Given the description of an element on the screen output the (x, y) to click on. 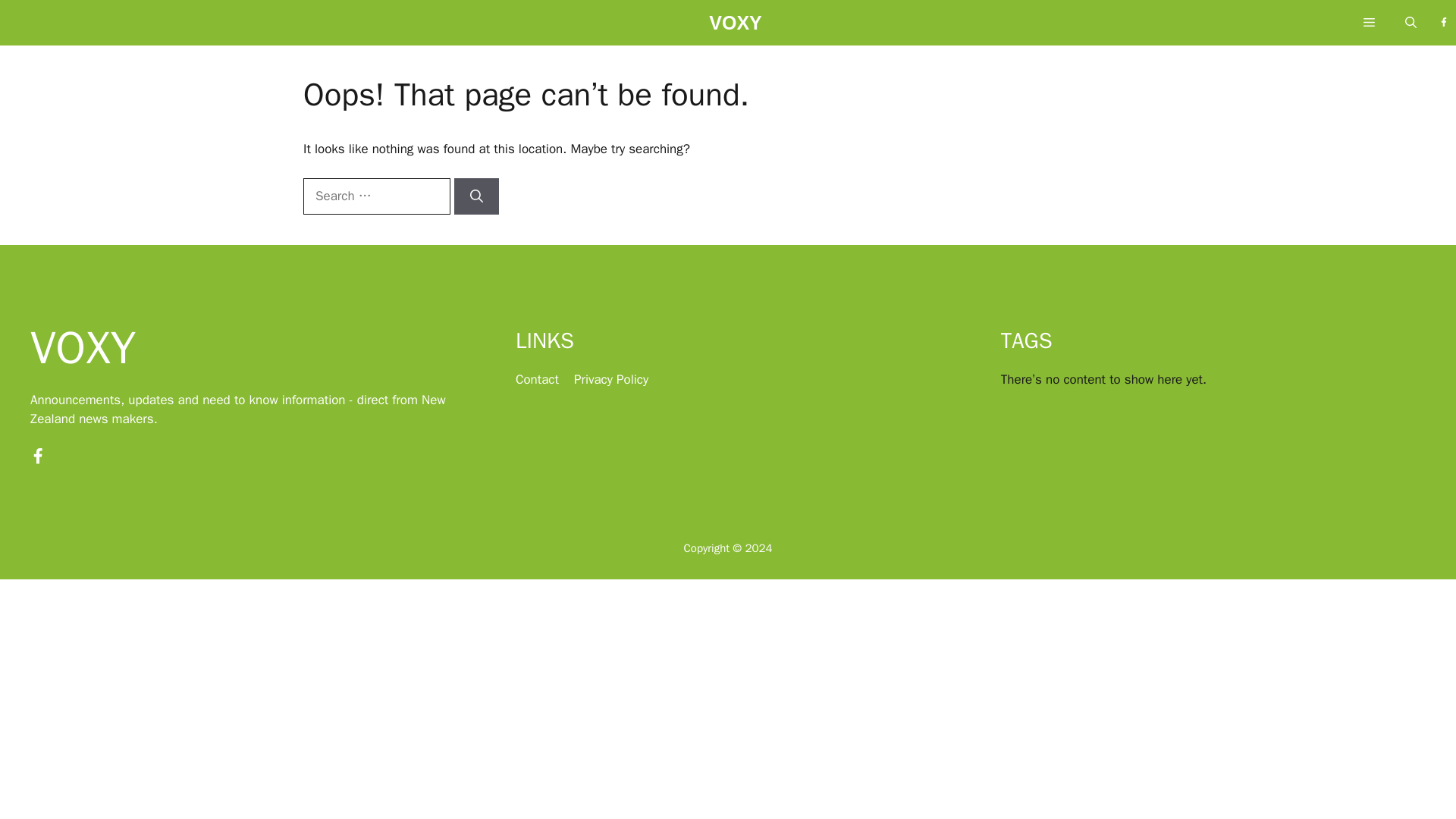
Privacy Policy (610, 379)
Contact (537, 379)
VOXY (735, 26)
Search for: (375, 196)
